Given the description of an element on the screen output the (x, y) to click on. 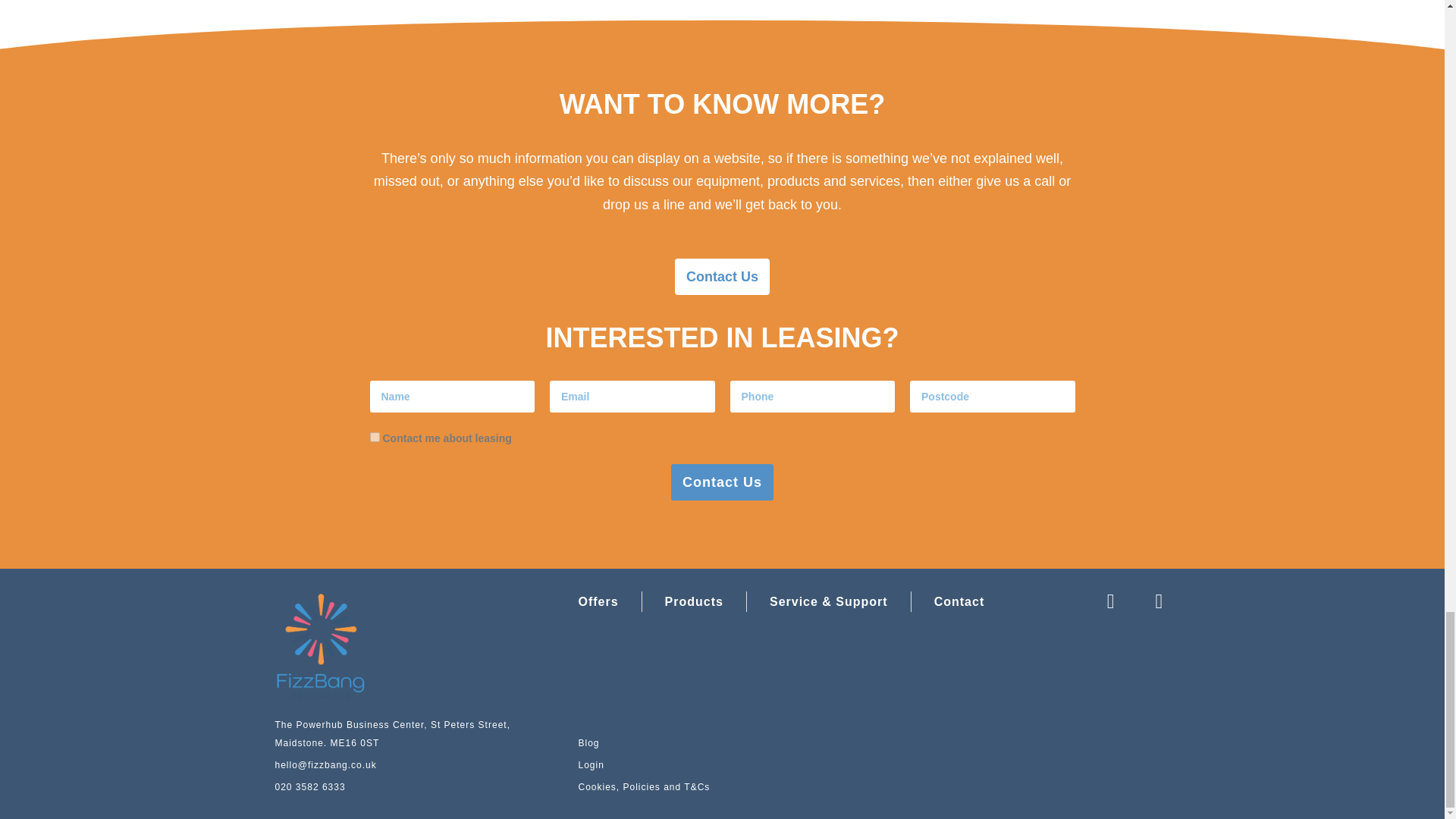
Contact me about leasing (374, 437)
